Given the description of an element on the screen output the (x, y) to click on. 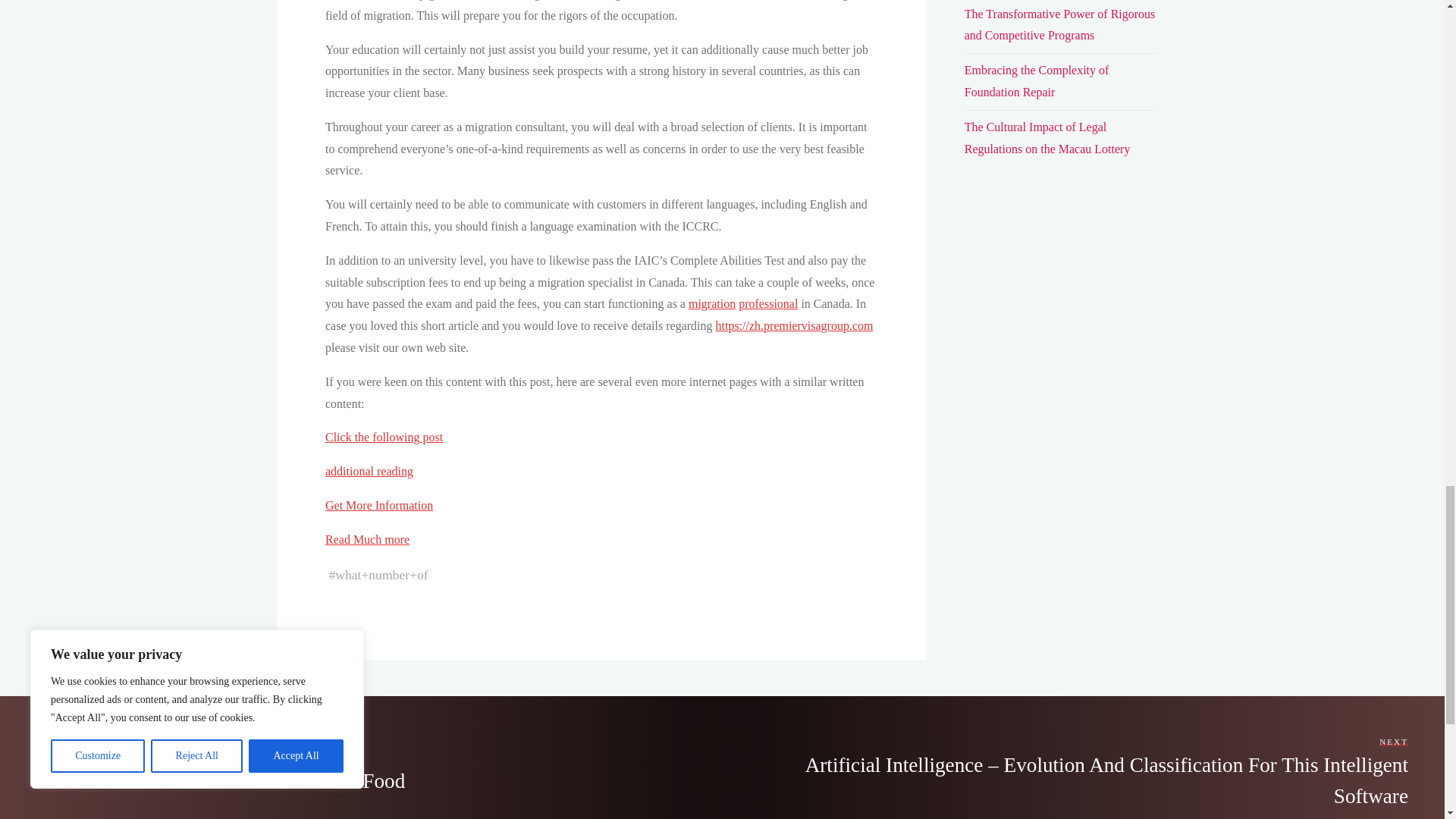
migration (711, 303)
additional reading (368, 471)
Click the following post (383, 436)
professional (767, 303)
Get More Information (378, 504)
Read Much more (366, 539)
